Given the description of an element on the screen output the (x, y) to click on. 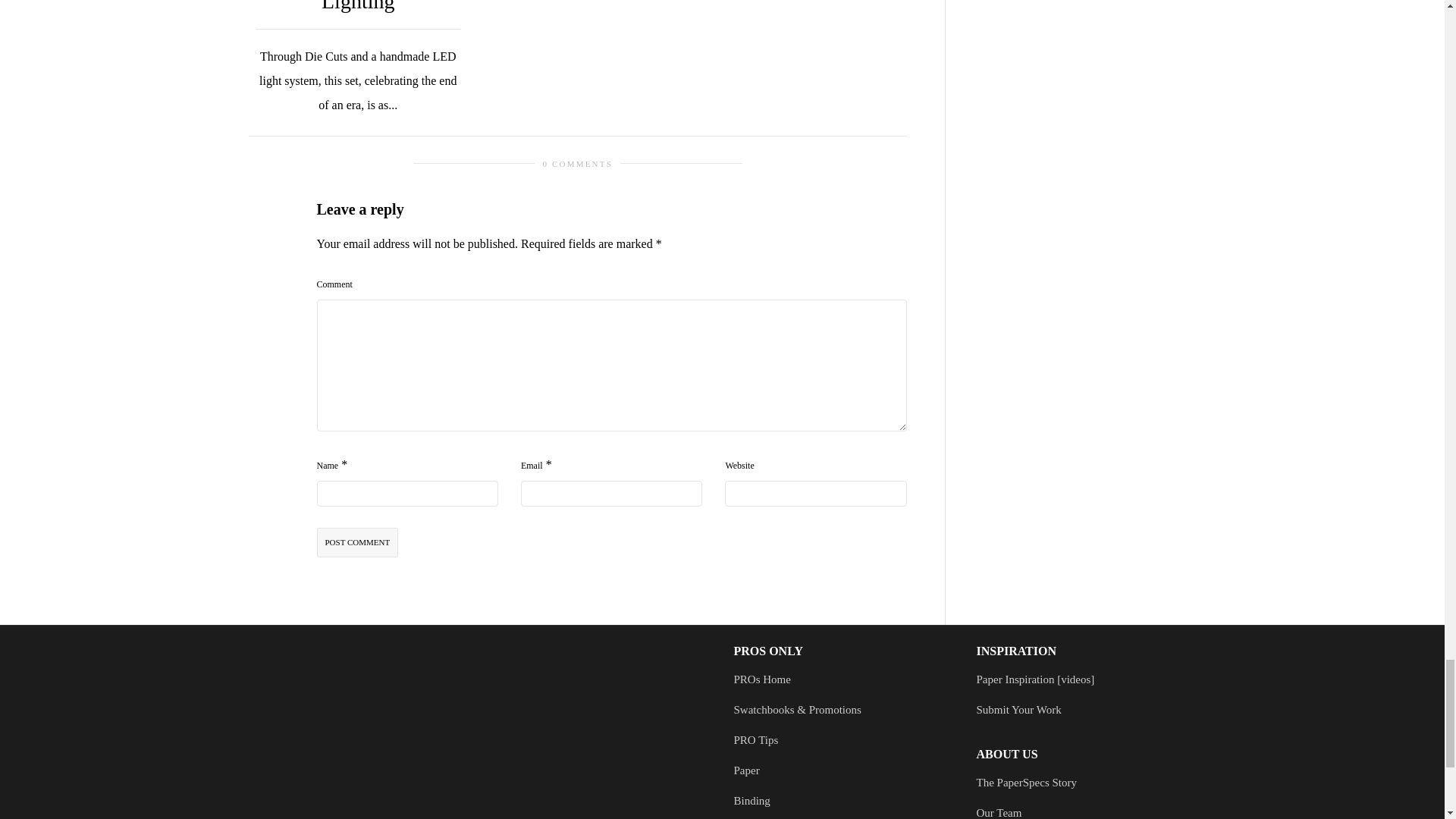
Post comment (357, 542)
